Given the description of an element on the screen output the (x, y) to click on. 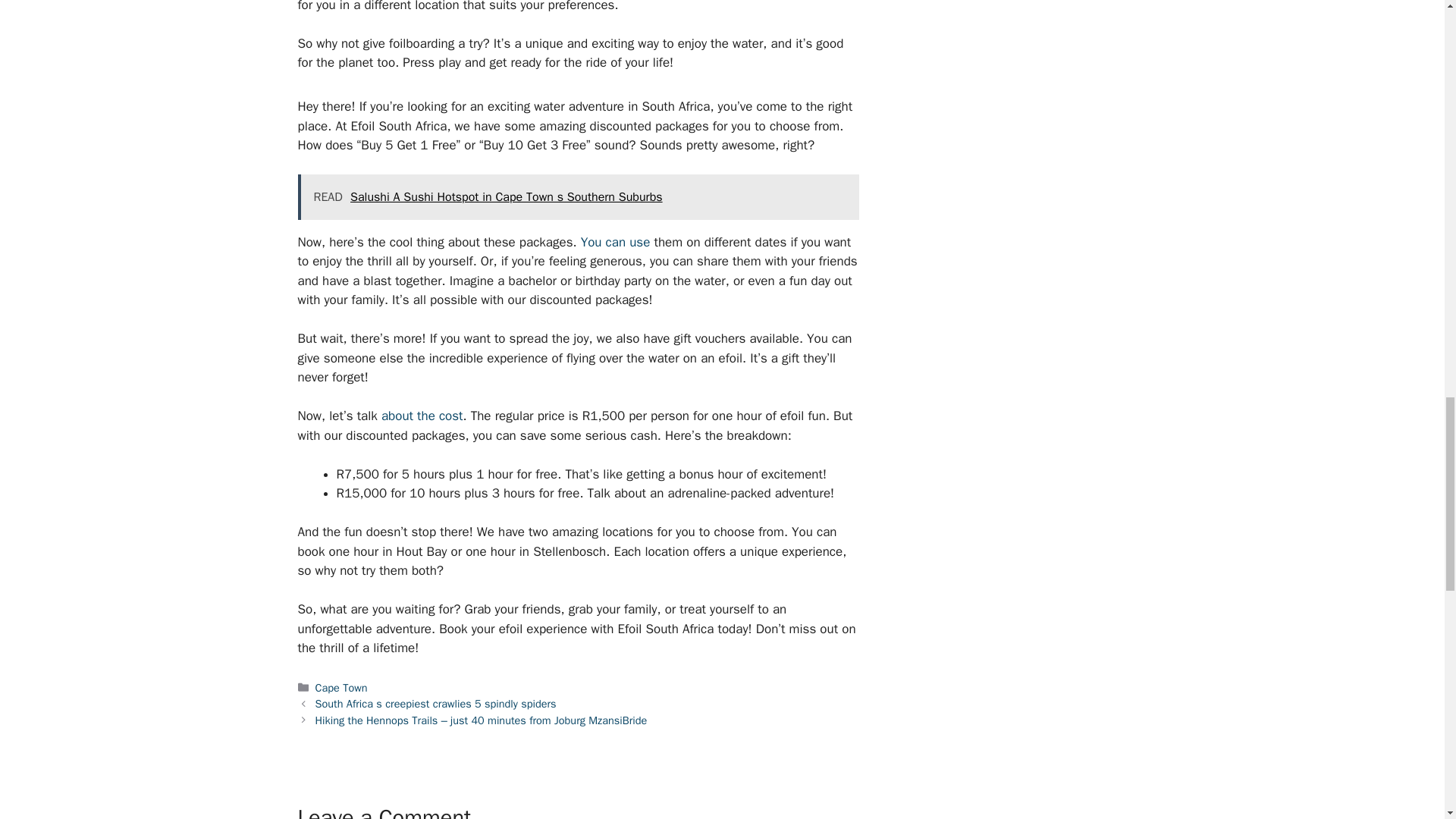
about the cost (422, 415)
You can use (615, 242)
Cape Town (341, 687)
South Africa s creepiest crawlies 5 spindly spiders (435, 703)
